Given the description of an element on the screen output the (x, y) to click on. 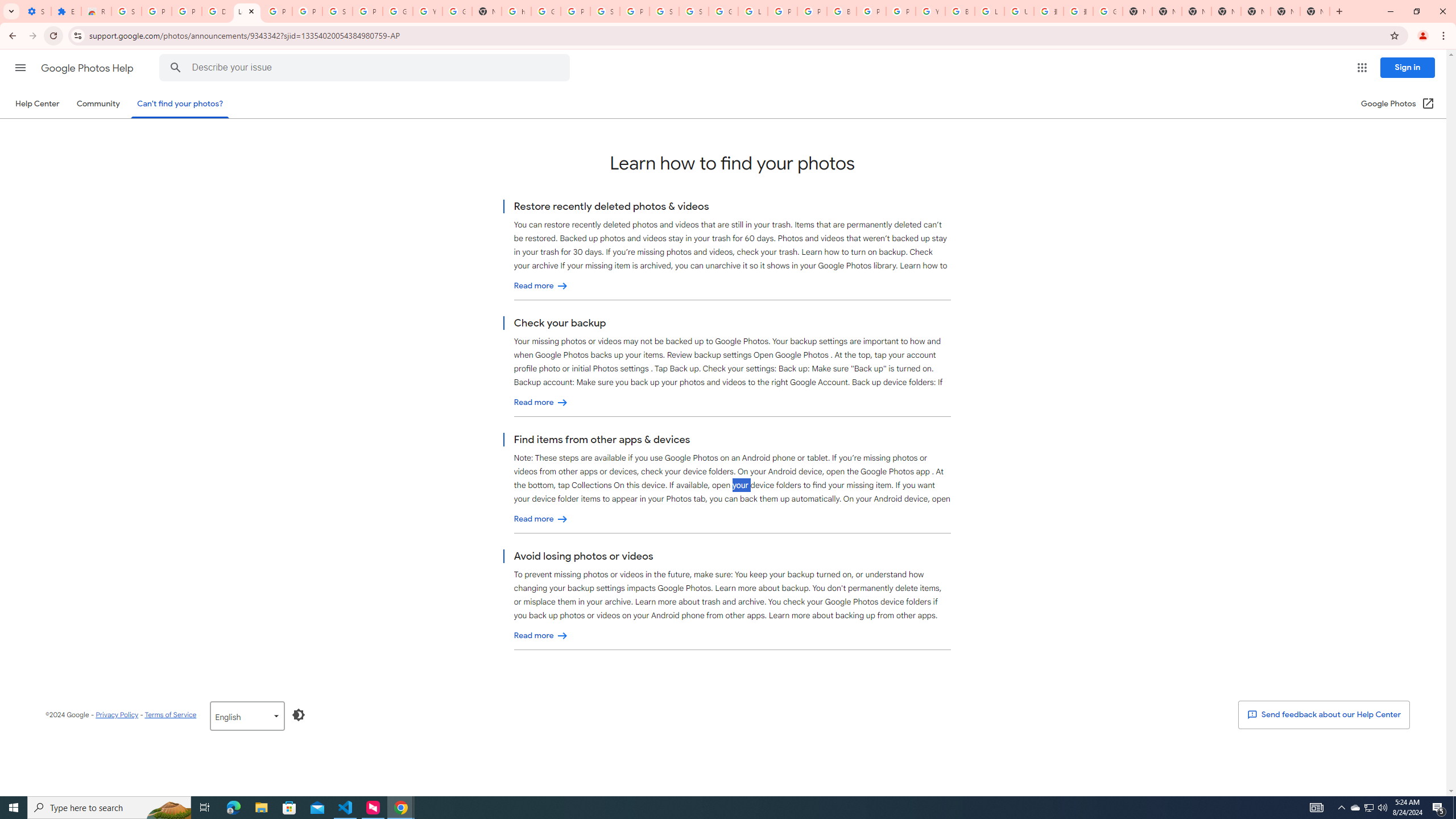
Learn how to find your photos - Google Photos Help (247, 11)
Google Images (1107, 11)
Google Photos (Open in a new window) (1397, 103)
Sign in - Google Accounts (693, 11)
Describe your issue (366, 67)
https://scholar.google.com/ (515, 11)
